Given the description of an element on the screen output the (x, y) to click on. 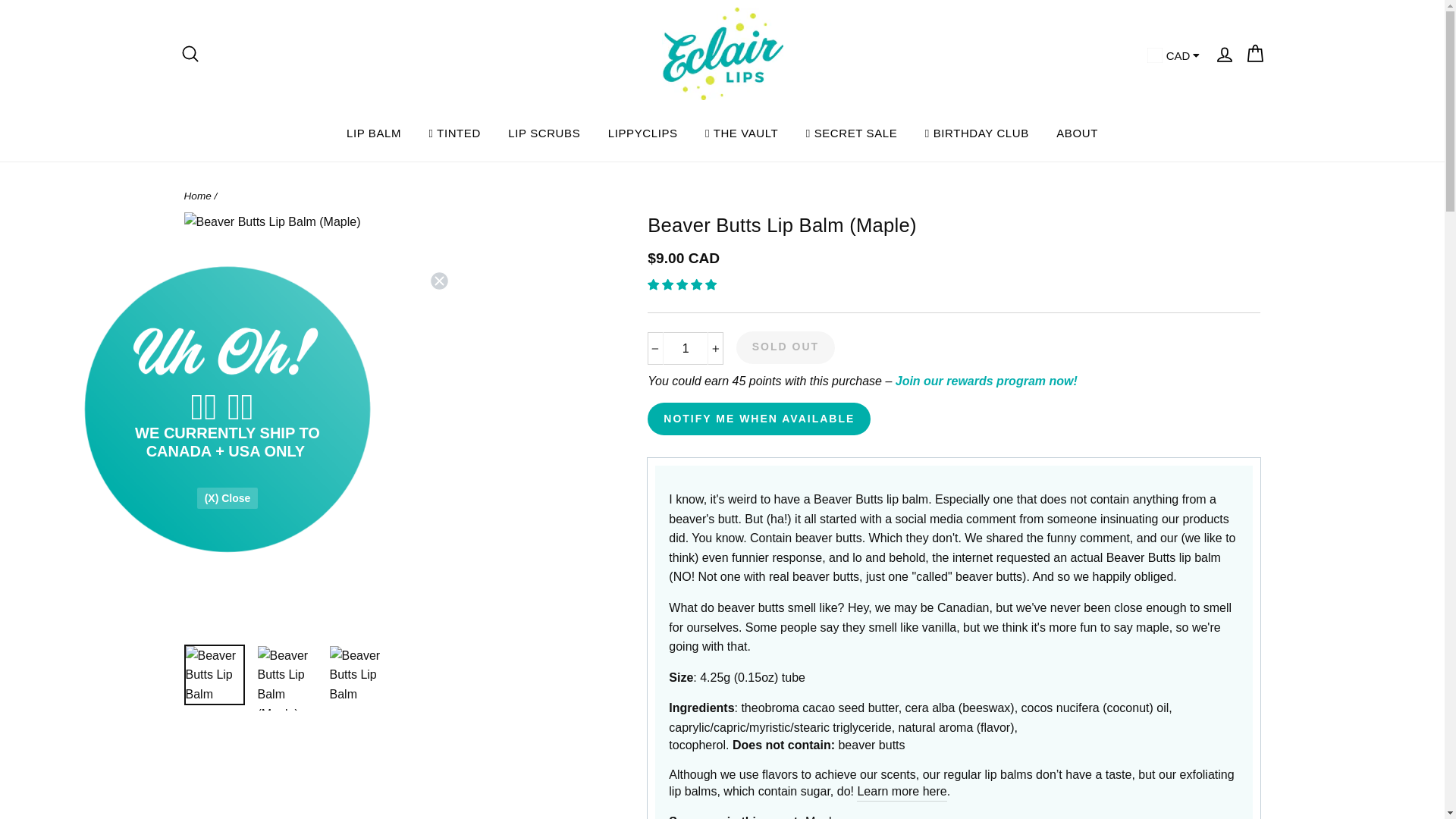
rewards (986, 380)
LIP BALM (373, 132)
SEARCH (189, 53)
CART (1254, 53)
LIPPYCLIPS (642, 132)
LOG IN (1223, 53)
1 (685, 348)
Back to the frontpage (197, 195)
ABOUT (1076, 132)
Home (197, 195)
Maple Collection (821, 816)
LIP SCRUBS (544, 132)
